Given the description of an element on the screen output the (x, y) to click on. 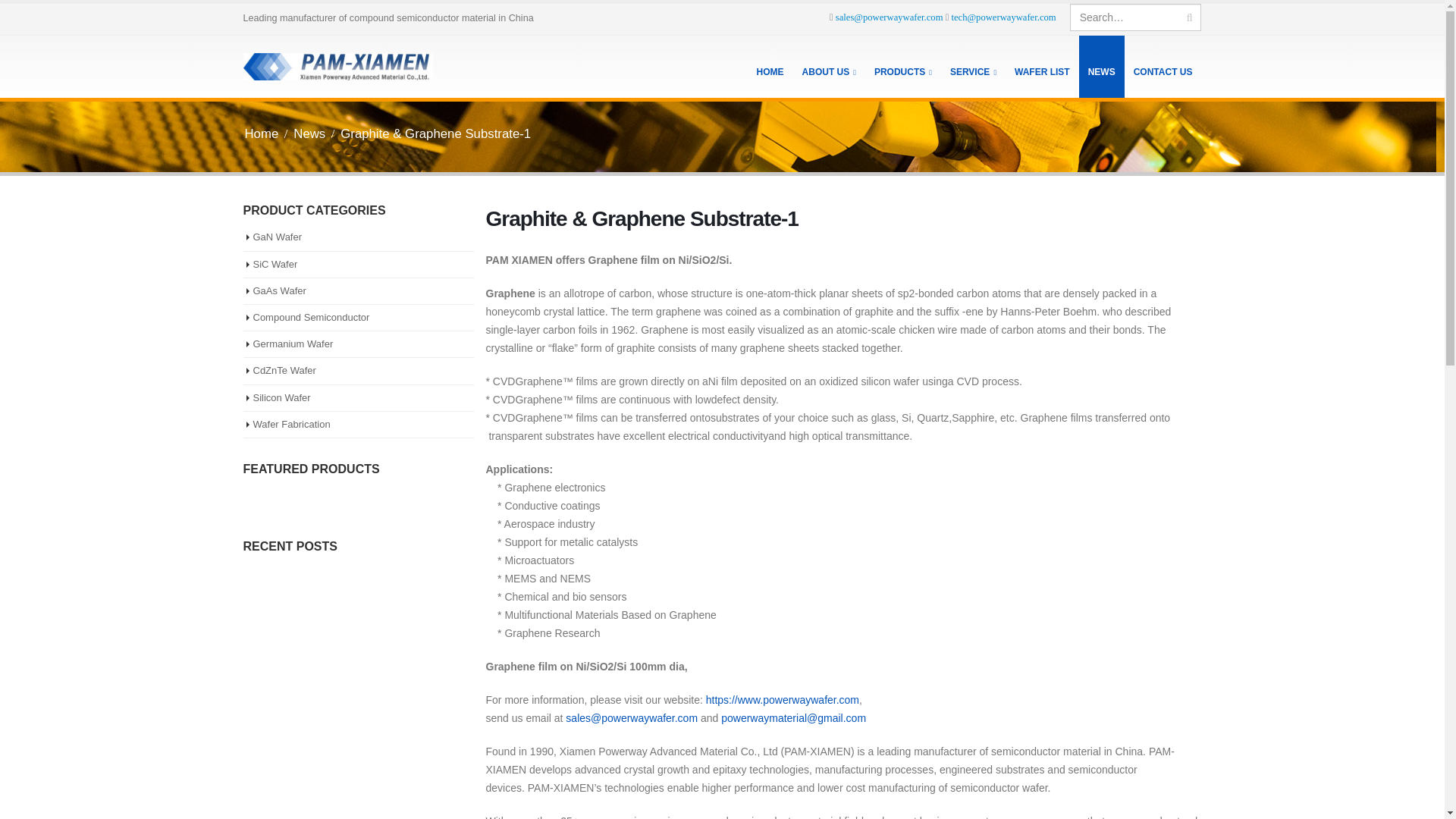
XIAMEN POWERWAY -  (337, 67)
Search (1189, 17)
ABOUT US (828, 66)
PRODUCTS (902, 66)
